Given the description of an element on the screen output the (x, y) to click on. 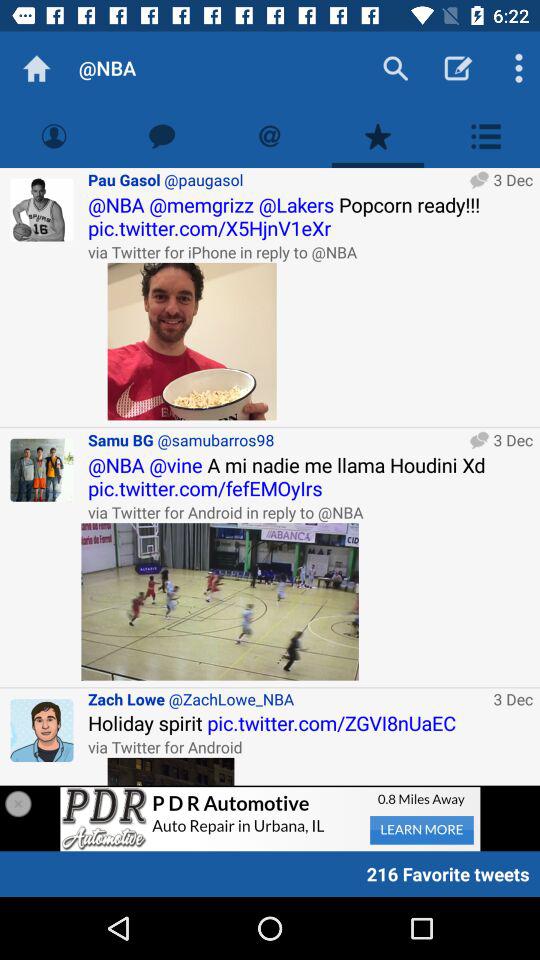
press icon to the left of 3 dec (219, 601)
